Given the description of an element on the screen output the (x, y) to click on. 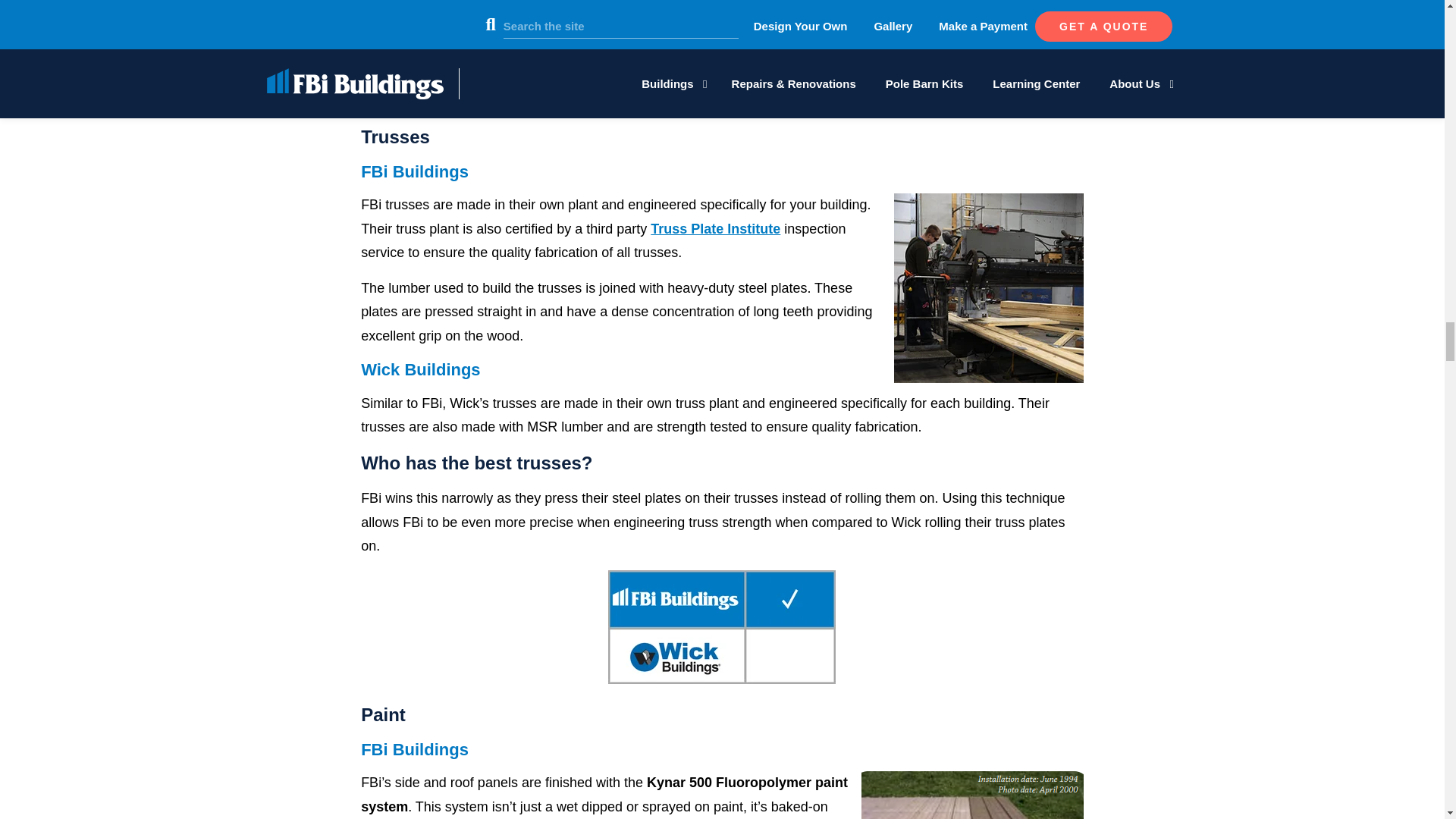
Cleary, Menards, Morton, and FBi Screw Comparison Testing (722, 53)
